Given the description of an element on the screen output the (x, y) to click on. 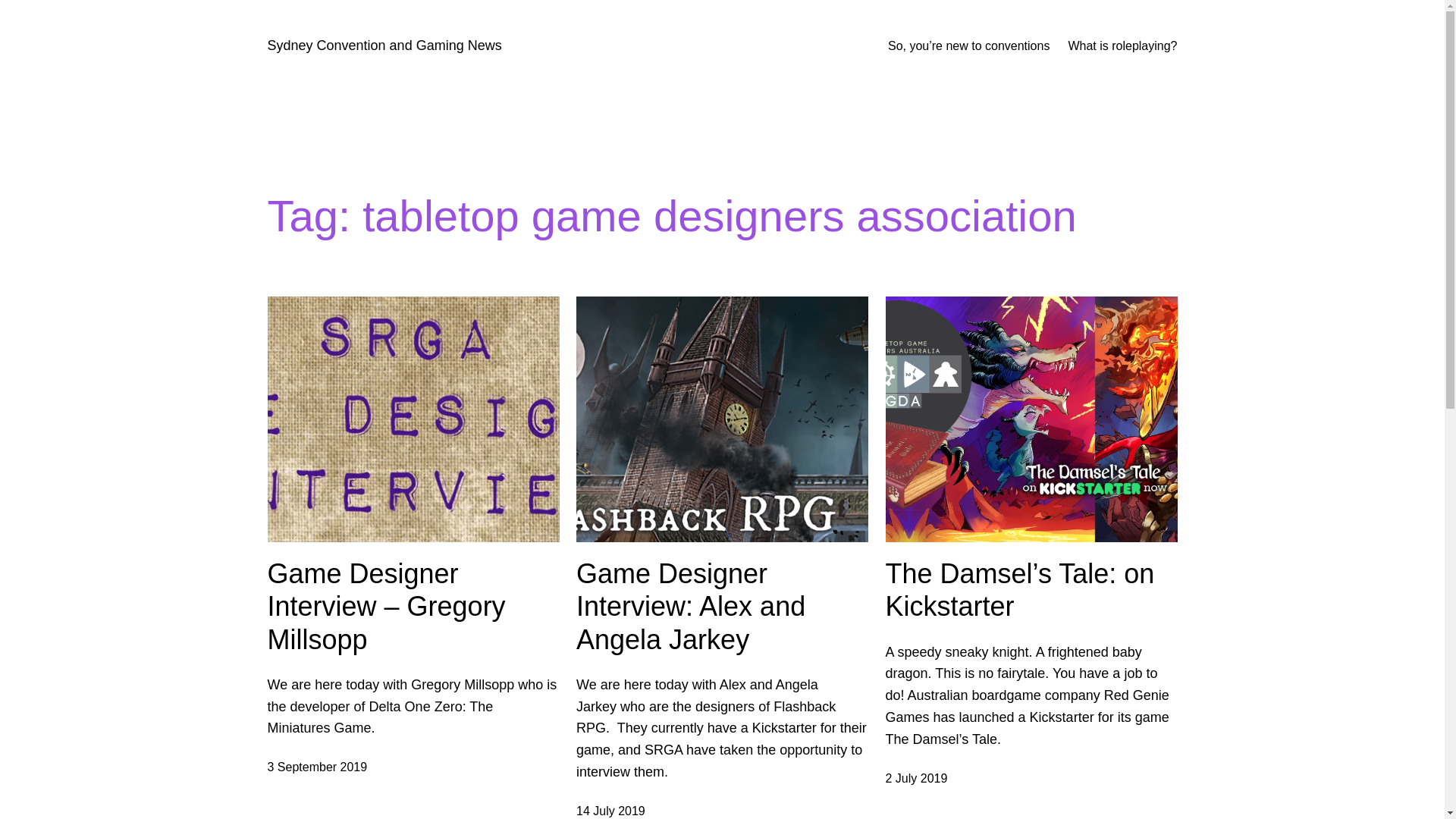
14 July 2019 Element type: text (610, 810)
Sydney Convention and Gaming News Element type: text (383, 45)
2 July 2019 Element type: text (916, 777)
What is roleplaying? Element type: text (1121, 46)
3 September 2019 Element type: text (316, 766)
Game Designer Interview: Alex and Angela Jarkey Element type: text (722, 606)
